Given the description of an element on the screen output the (x, y) to click on. 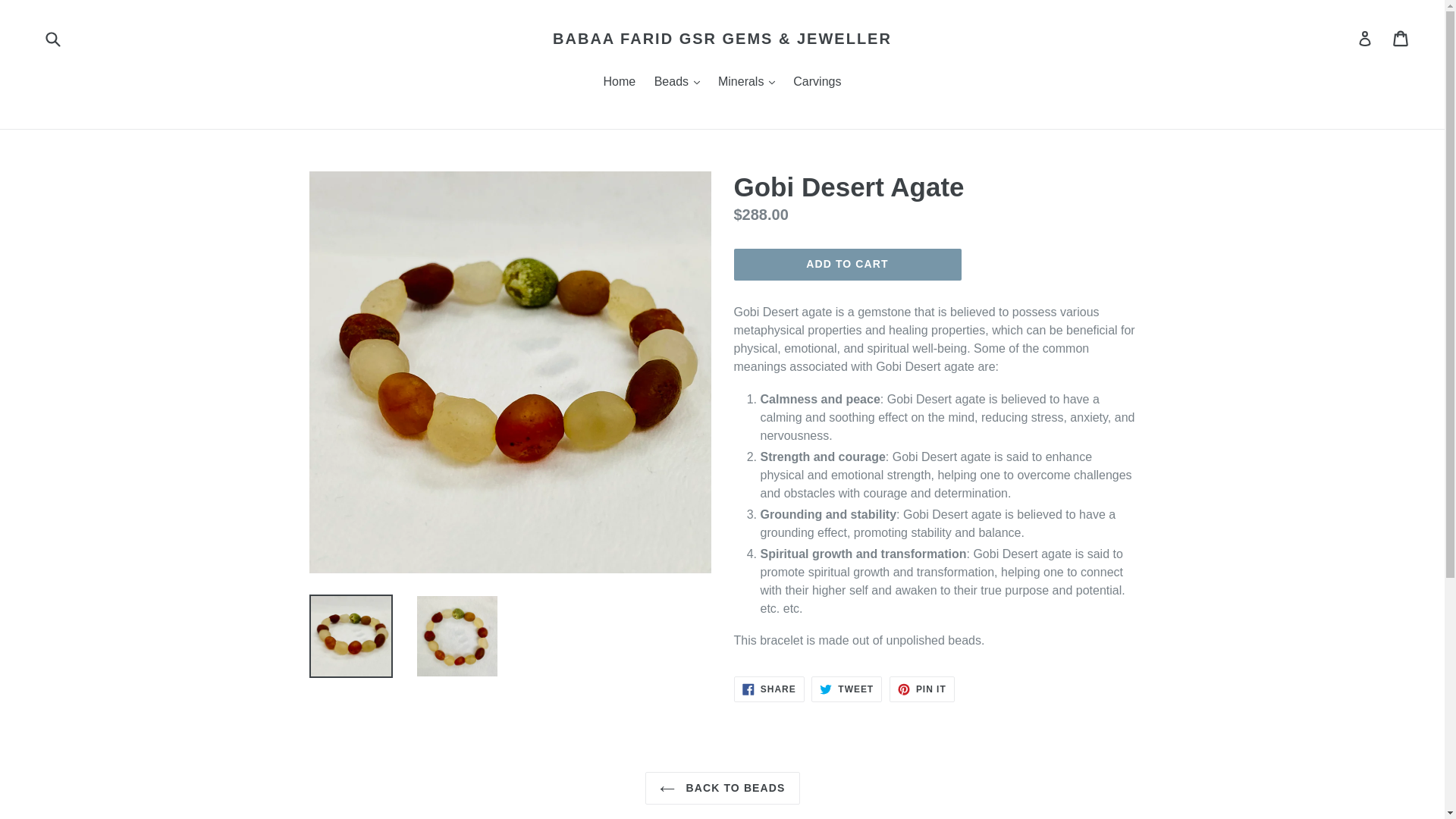
Tweet on Twitter (846, 688)
Pin on Pinterest (922, 688)
Share on Facebook (769, 688)
